Given the description of an element on the screen output the (x, y) to click on. 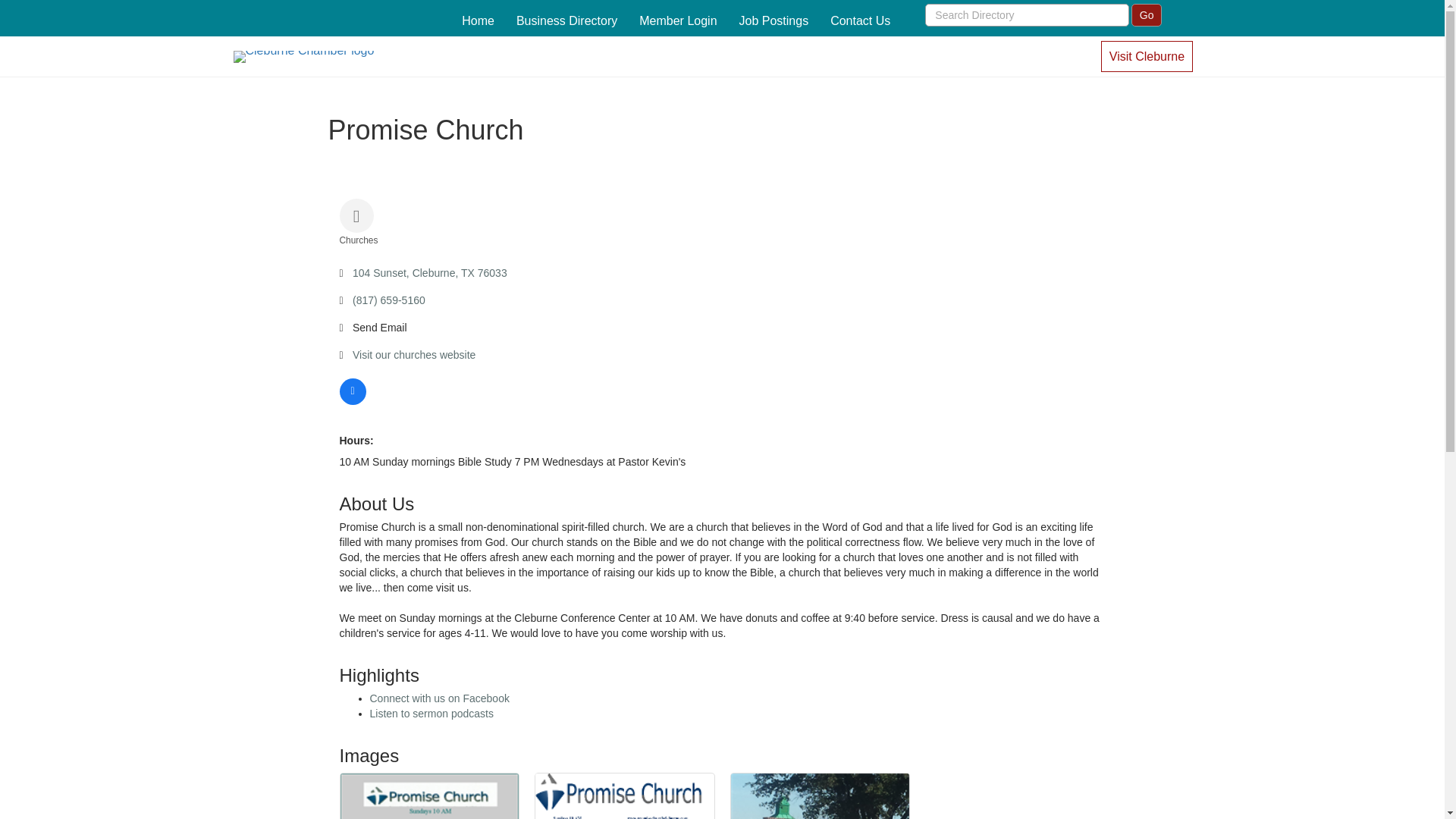
Home (478, 21)
View on Facebook (352, 400)
Go (1146, 15)
Contact Us (860, 21)
Business Directory (566, 21)
Go (1146, 15)
Go (1146, 15)
Member Login (677, 21)
Job Postings (774, 21)
